Given the description of an element on the screen output the (x, y) to click on. 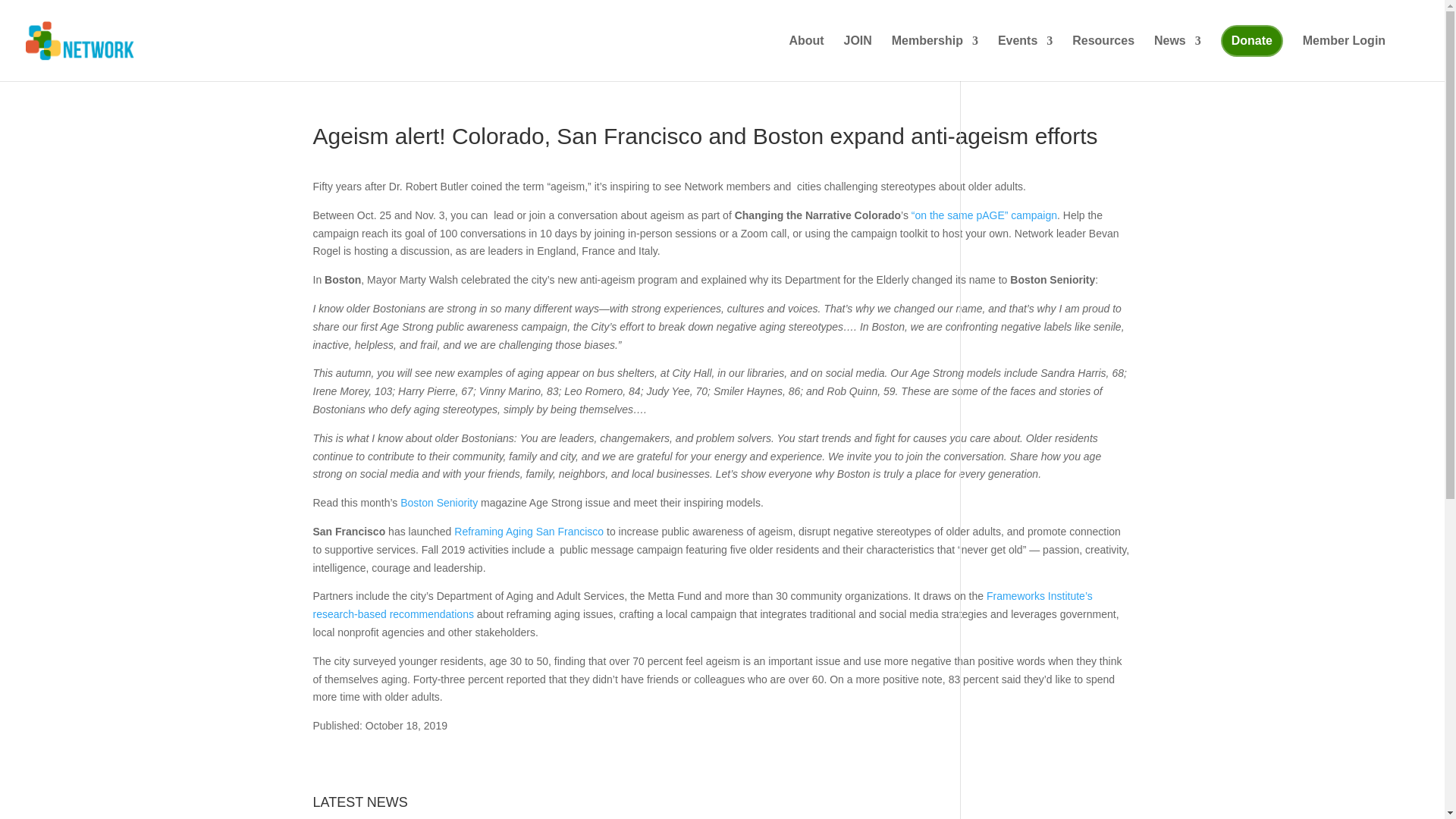
News (1177, 53)
Events (1024, 53)
Resources (1102, 53)
Donate (1251, 40)
Membership (934, 53)
Member Login (1344, 53)
About (806, 53)
